Given the description of an element on the screen output the (x, y) to click on. 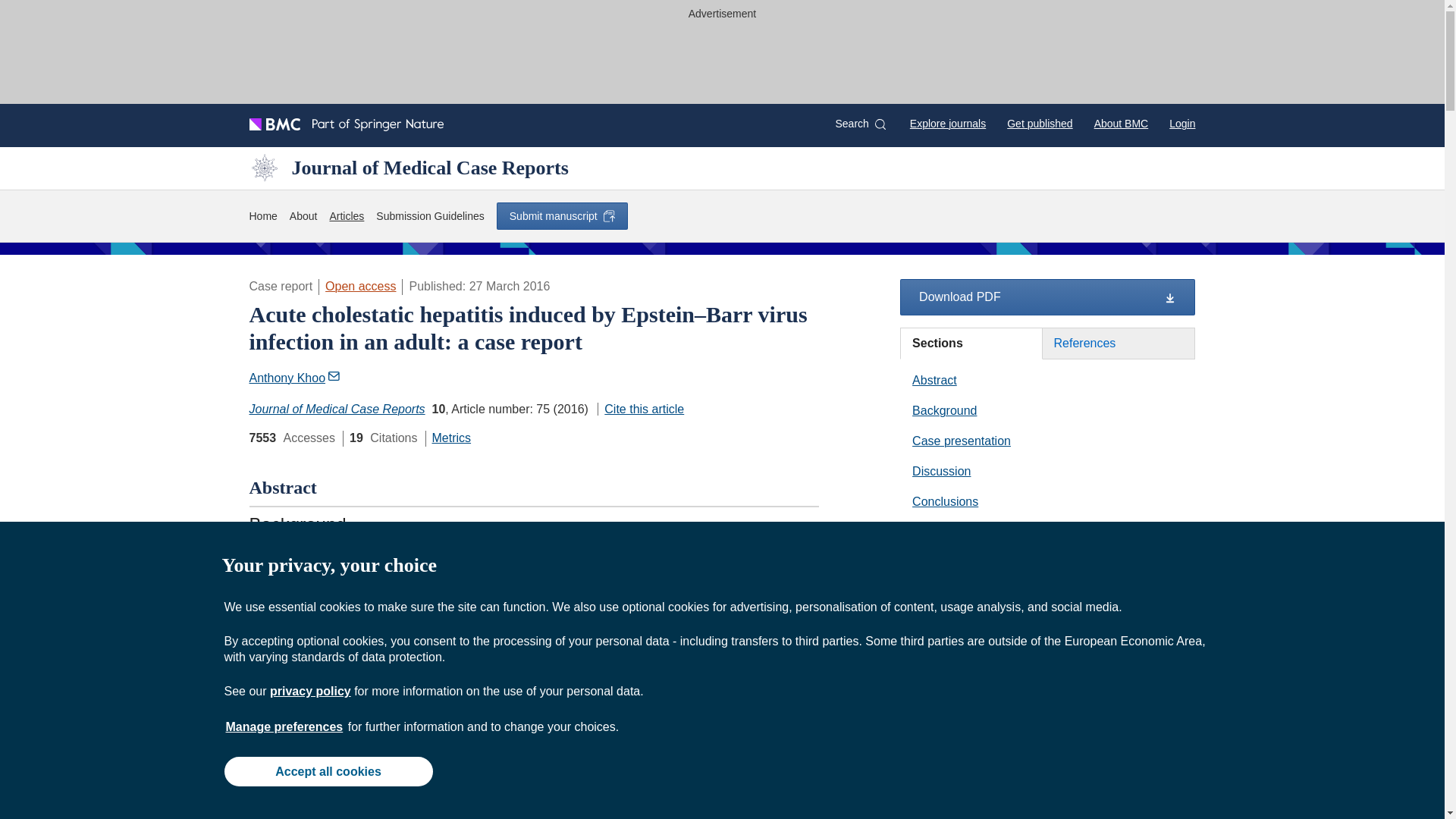
Cite this article (640, 408)
About BMC (1121, 123)
Anthony Khoo  (295, 377)
Home (262, 216)
Submit manuscript (561, 216)
Metrics (451, 437)
Login (1182, 123)
Anthony Khoo (294, 377)
About (303, 216)
Submission Guidelines (429, 216)
